Given the description of an element on the screen output the (x, y) to click on. 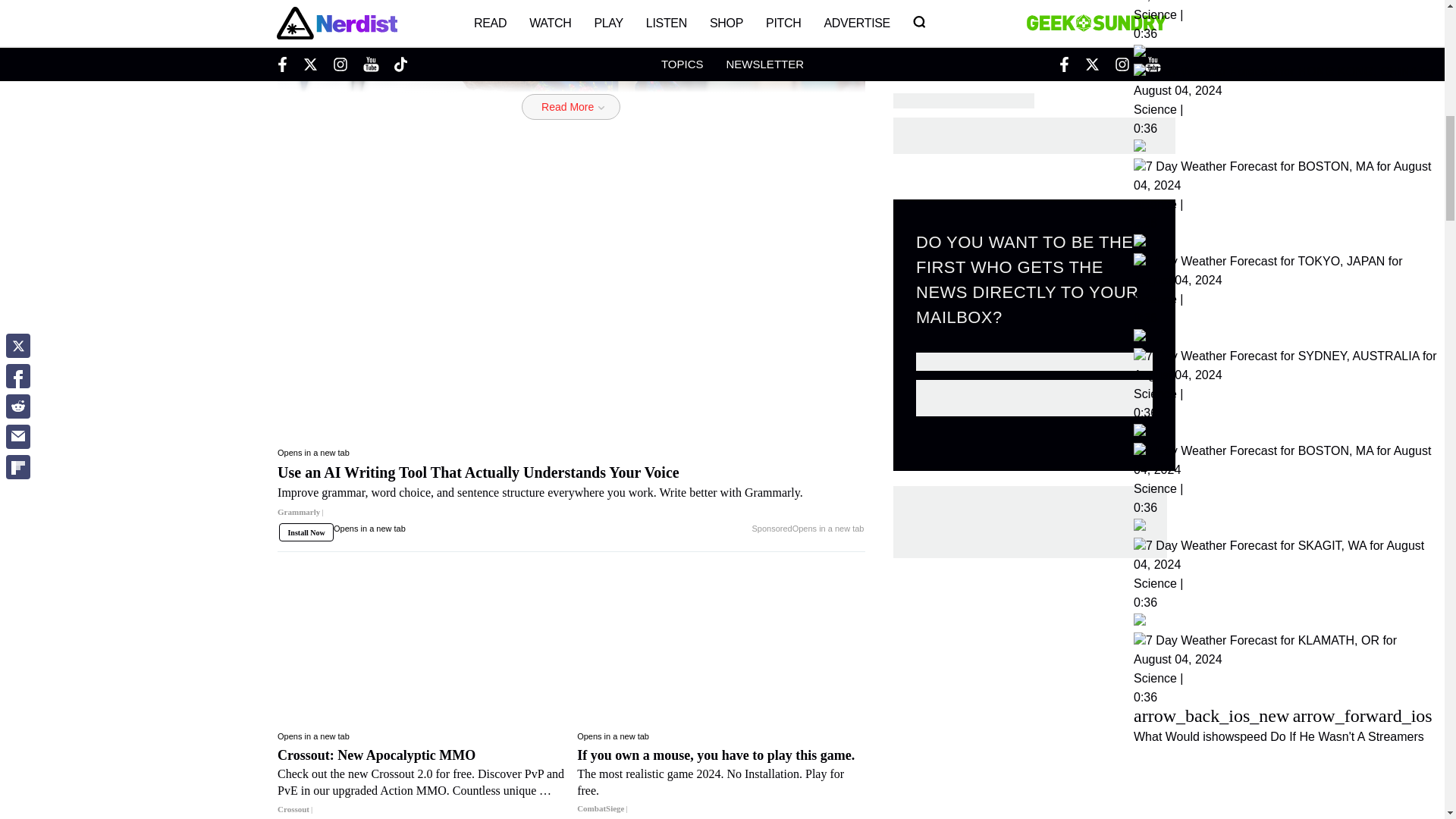
Read More (570, 106)
